Given the description of an element on the screen output the (x, y) to click on. 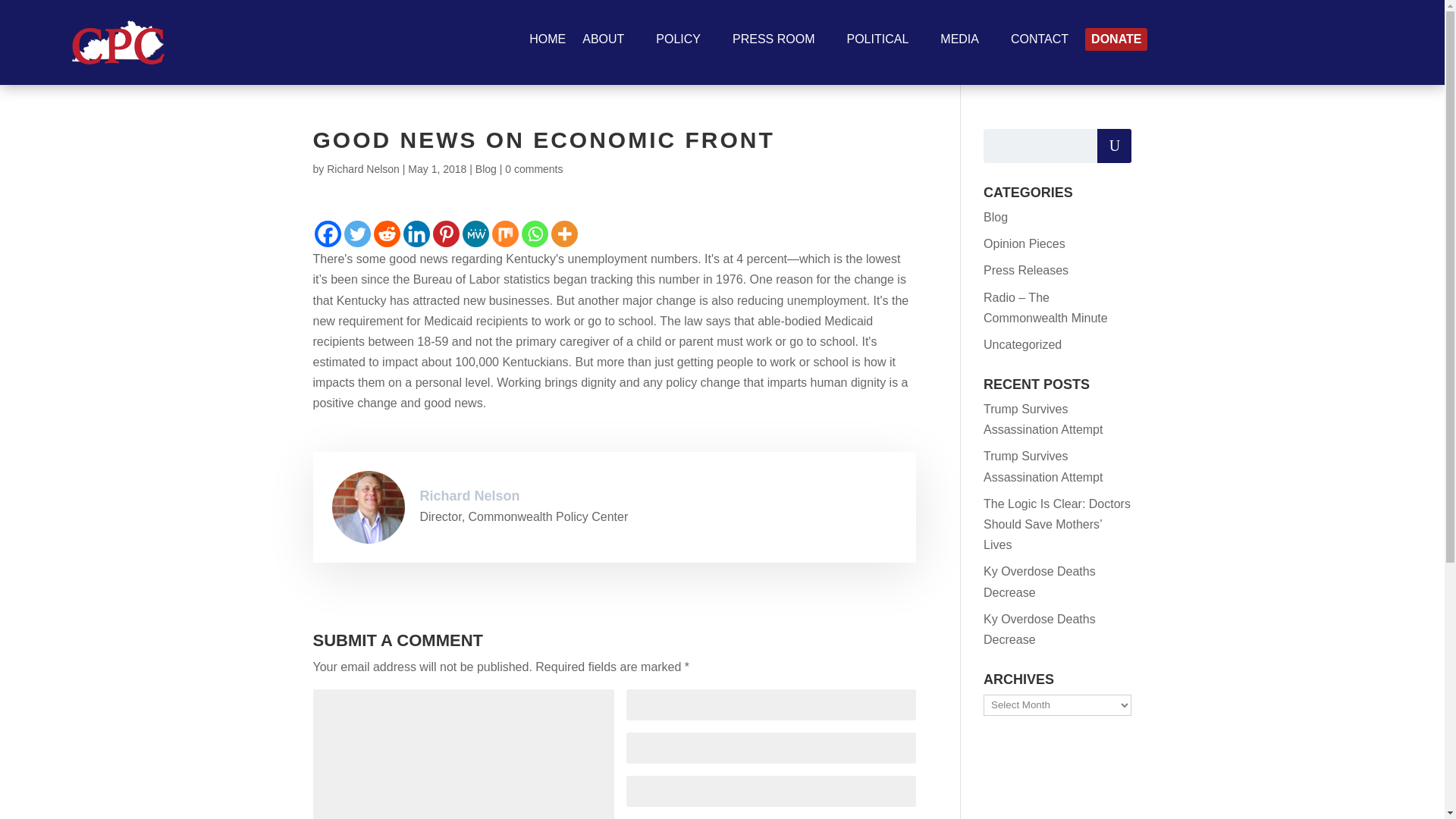
Facebook (327, 233)
Linkedin (416, 233)
Whatsapp (534, 233)
Pinterest (445, 233)
MeWe (476, 233)
CPCWhiteMap-min (117, 42)
ABOUT (610, 42)
More (563, 233)
Posts by Richard Nelson (362, 168)
HOME (547, 42)
Twitter (357, 233)
POLITICAL (884, 42)
Mix (505, 233)
CONTACT (1039, 42)
POLICY (686, 42)
